Given the description of an element on the screen output the (x, y) to click on. 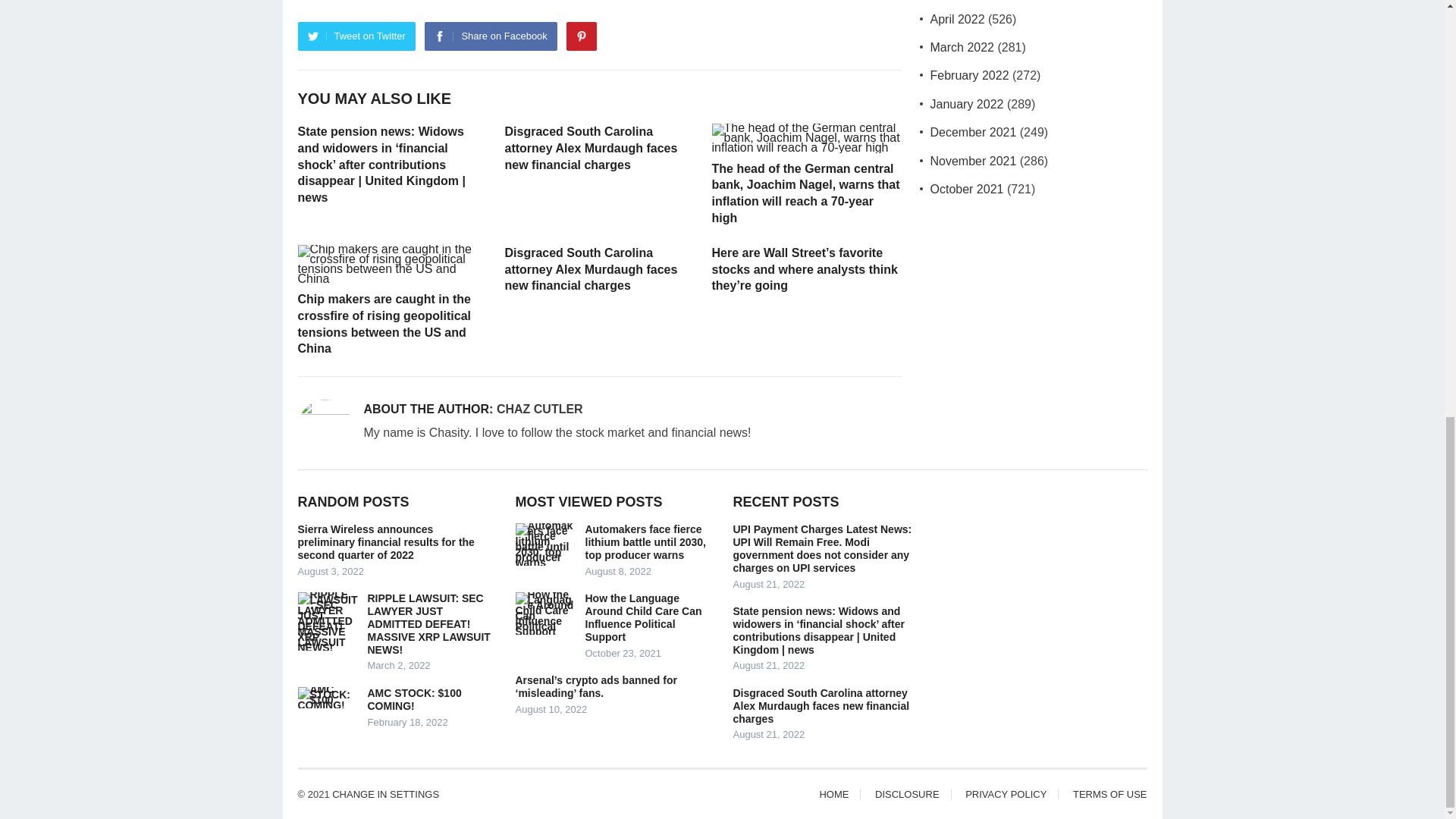
Source link (326, 0)
Tweet on Twitter (355, 36)
Pinterest (581, 36)
Share on Facebook (490, 36)
